Given the description of an element on the screen output the (x, y) to click on. 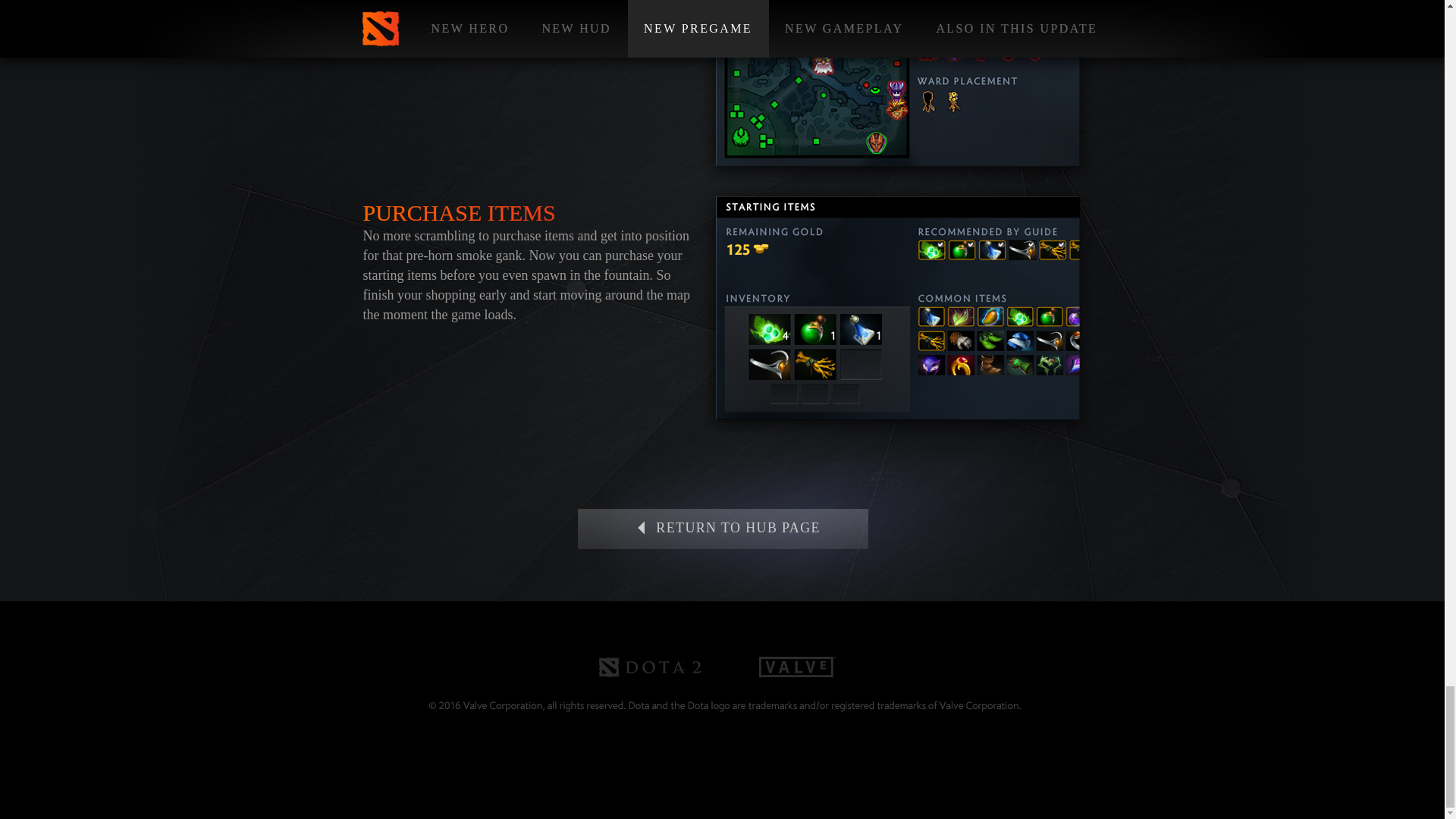
RETURN TO HUB PAGE (722, 528)
